Given the description of an element on the screen output the (x, y) to click on. 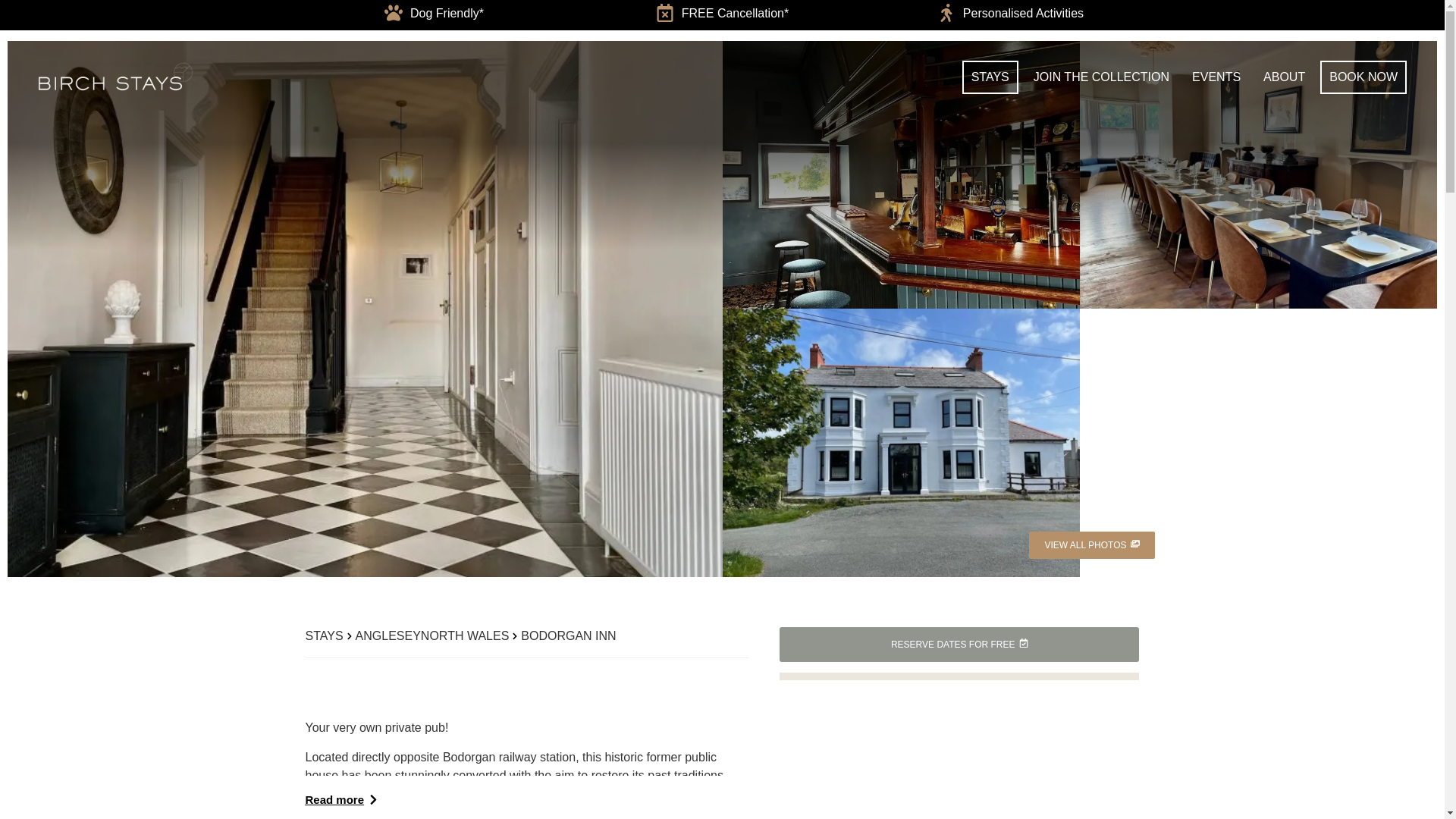
BOOK NOW (1363, 77)
STAYS (989, 77)
ABOUT (1284, 77)
JOIN THE COLLECTION (1101, 77)
EVENTS (1216, 77)
